Given the description of an element on the screen output the (x, y) to click on. 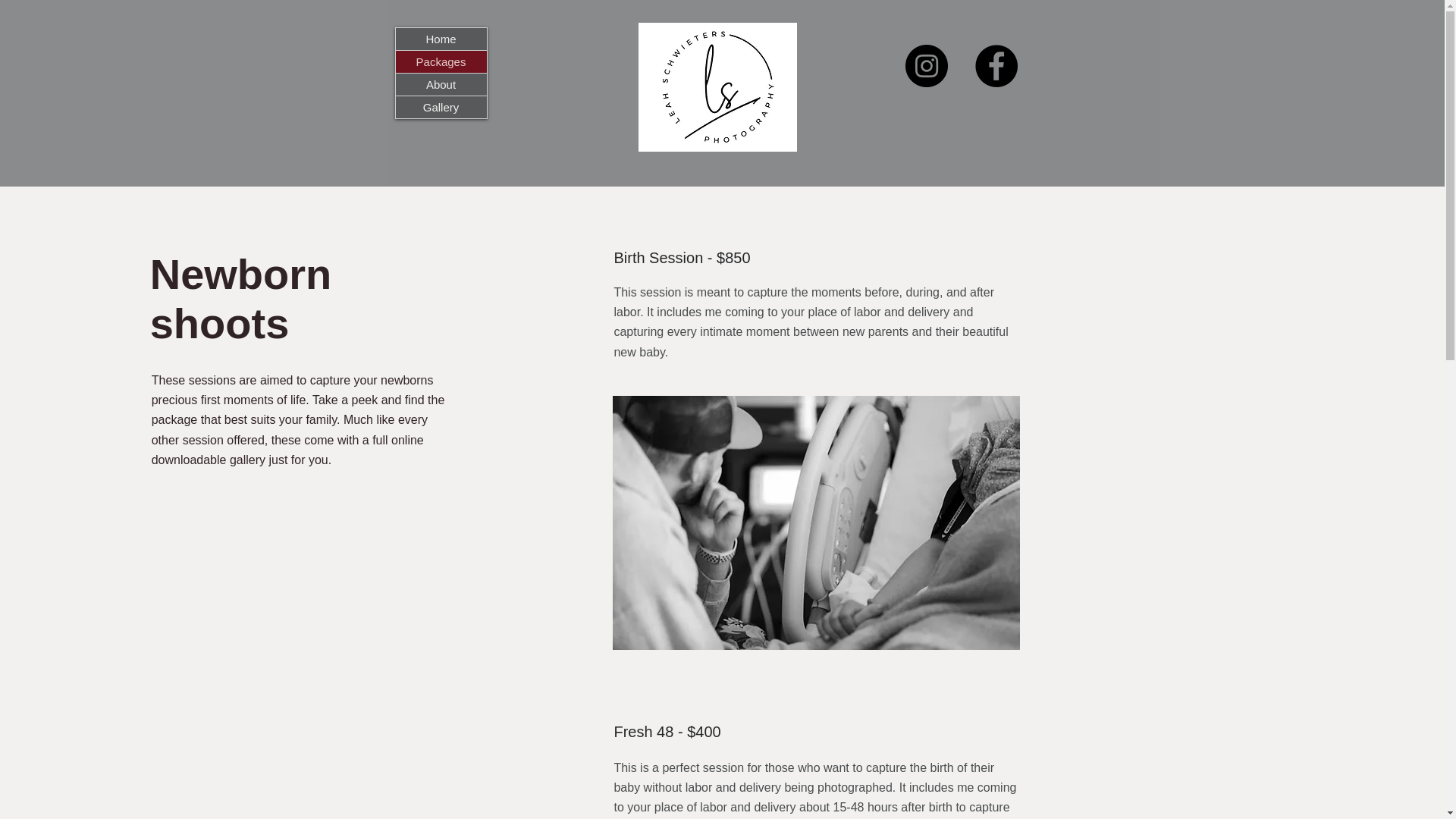
About (441, 84)
Gallery (441, 106)
Home (441, 38)
